Given the description of an element on the screen output the (x, y) to click on. 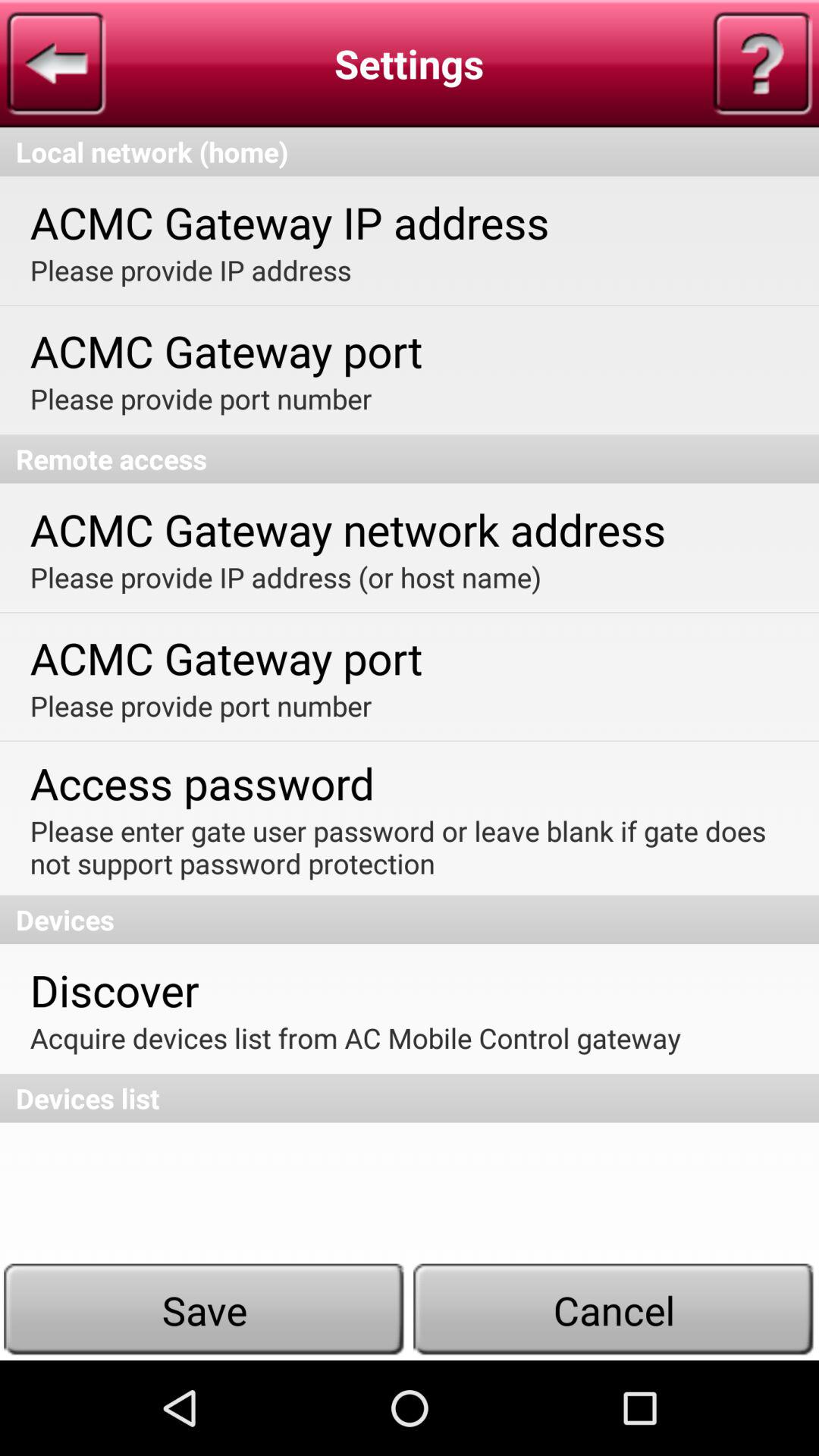
jump until discover app (114, 989)
